Given the description of an element on the screen output the (x, y) to click on. 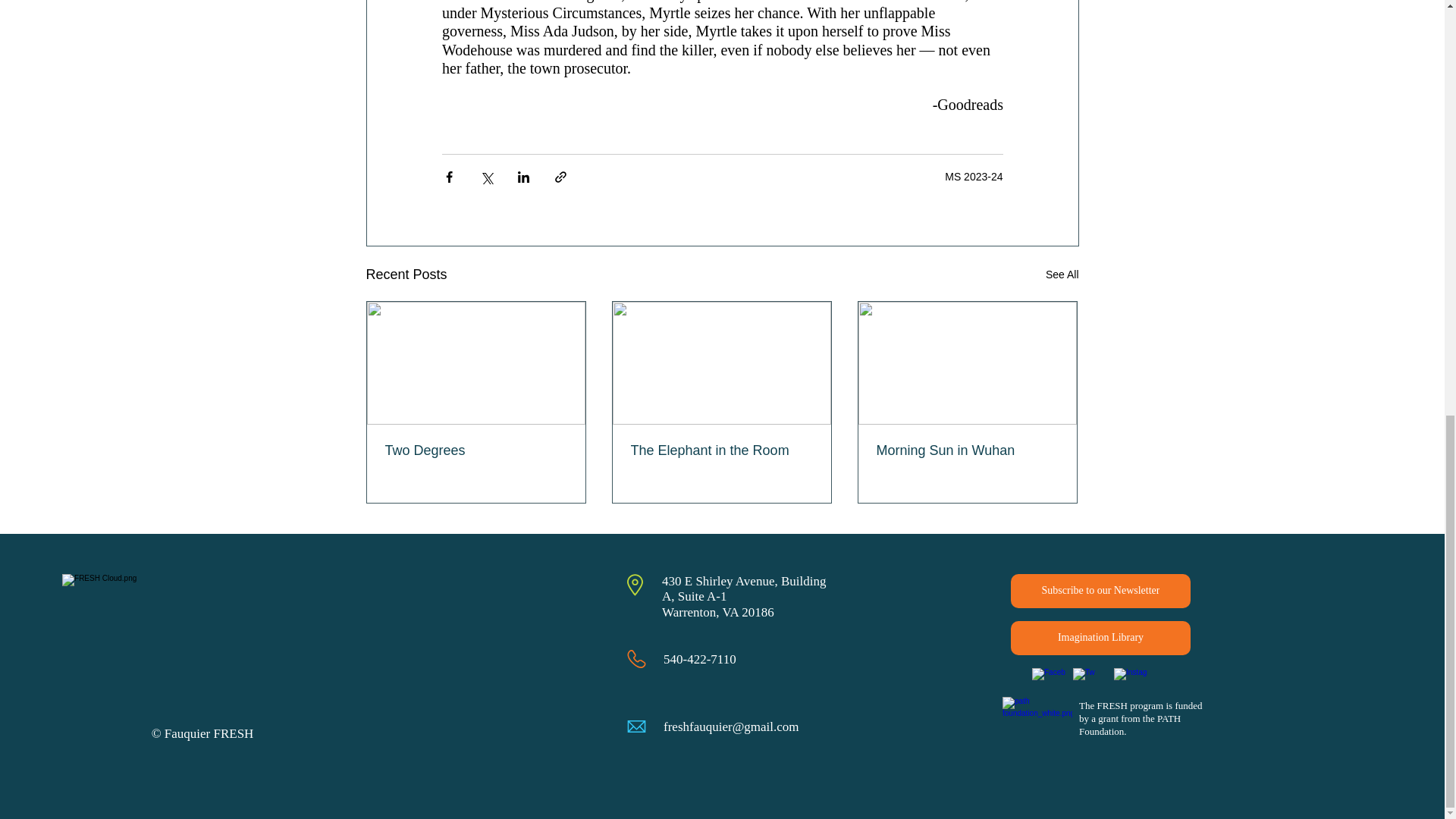
MS 2023-24 (973, 176)
See All (1061, 274)
Two Degrees (476, 450)
540-422-7110 (699, 658)
Imagination Library (1100, 637)
The Elephant in the Room (721, 450)
Subscribe to our Newsletter (1100, 591)
Morning Sun in Wuhan (967, 450)
